Given the description of an element on the screen output the (x, y) to click on. 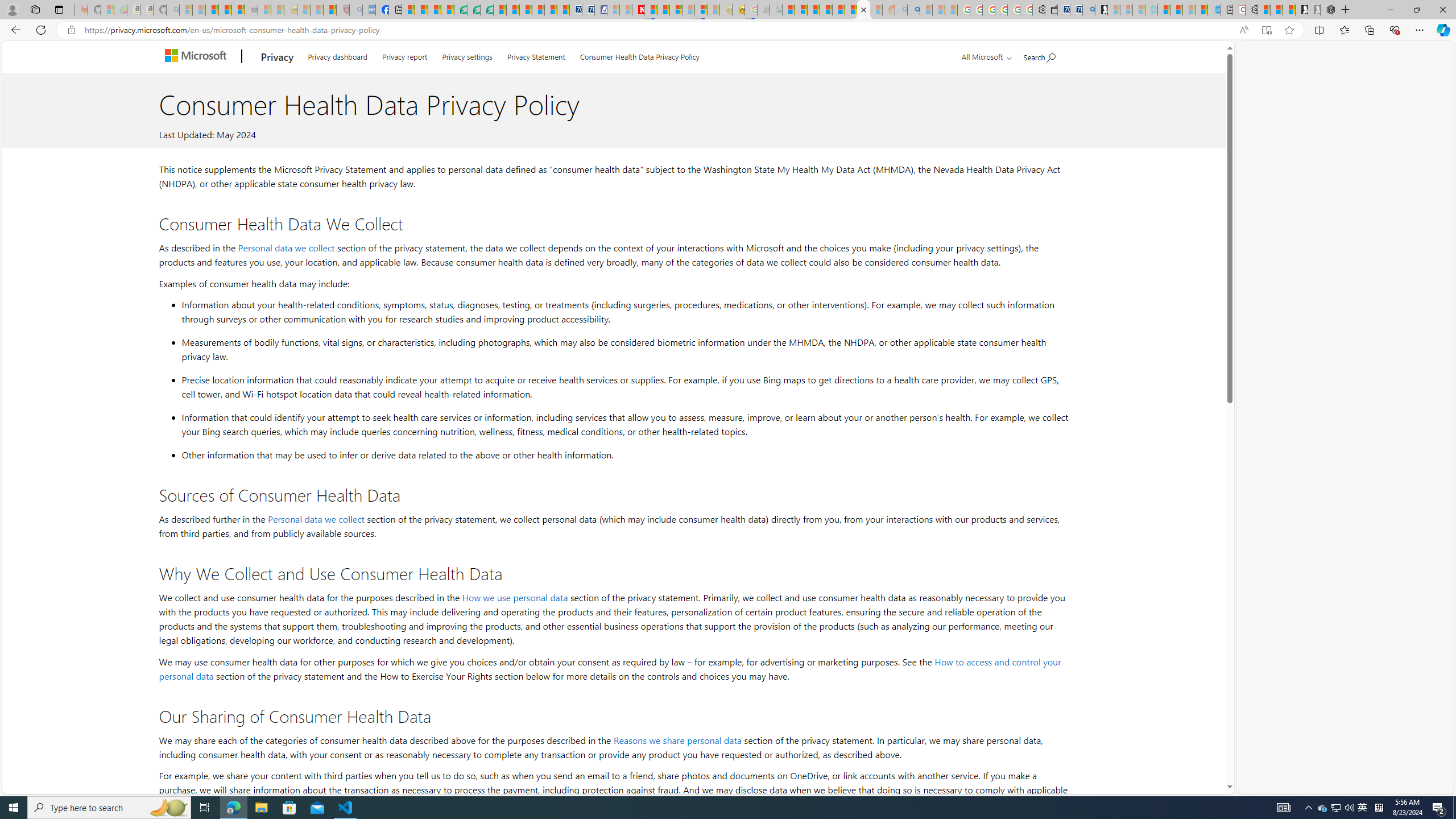
How we use personal data (514, 597)
Personal data we collect (315, 518)
Latest Politics News & Archive | Newsweek.com (638, 9)
Reasons we share personal data (676, 739)
Privacy report (404, 54)
Privacy Statement (536, 54)
